Given the description of an element on the screen output the (x, y) to click on. 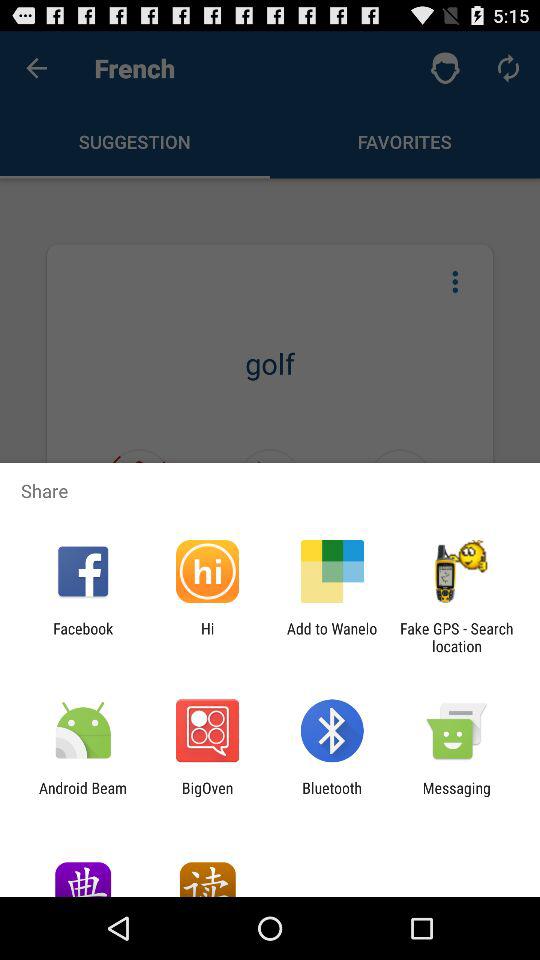
open the app to the left of fake gps search icon (331, 637)
